Given the description of an element on the screen output the (x, y) to click on. 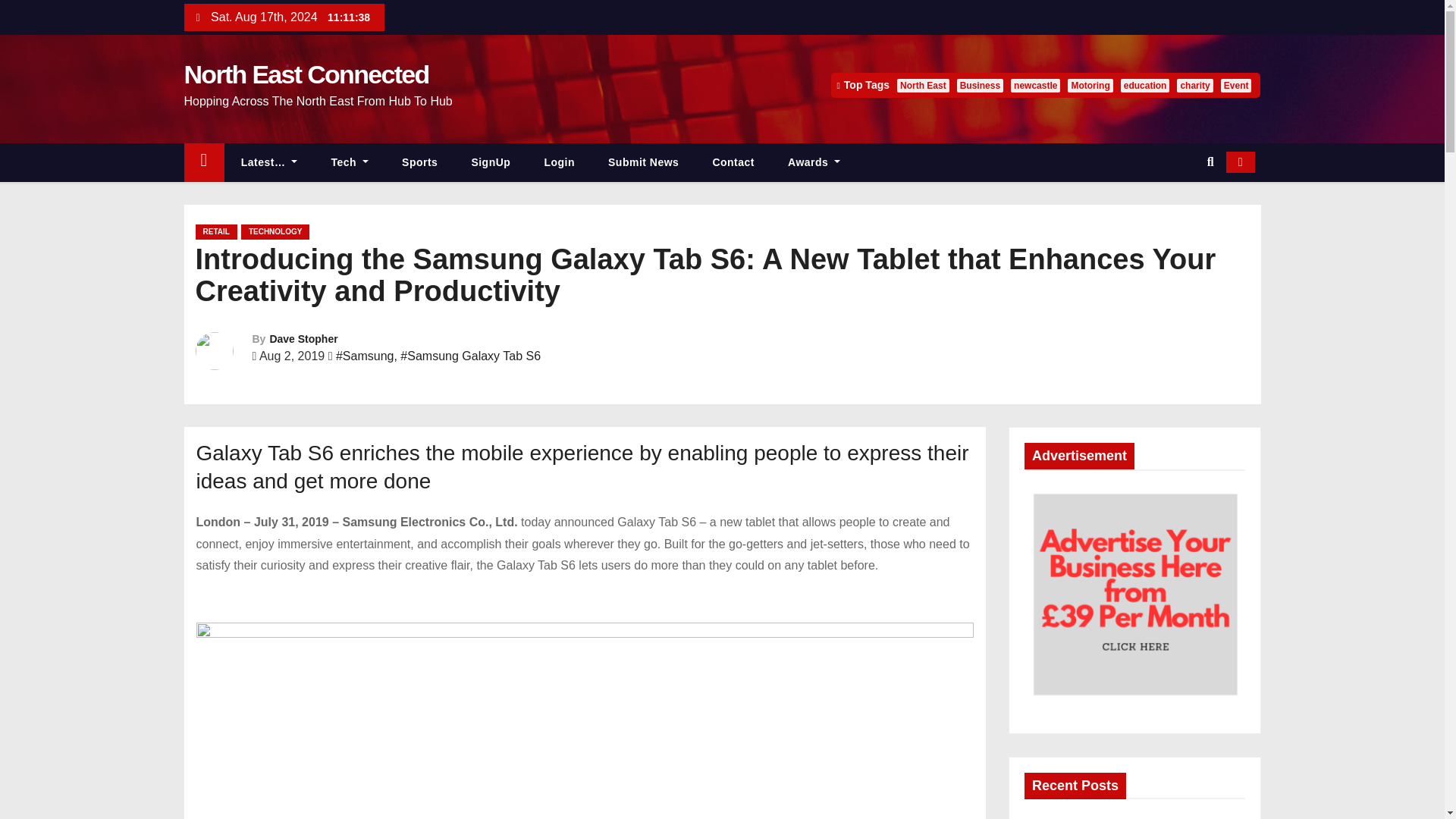
North East (922, 85)
education (1145, 85)
Contact (733, 162)
RETAIL (216, 231)
Home (203, 162)
SignUp (490, 162)
Login (559, 162)
Awards (814, 162)
Dave Stopher (303, 338)
Tech (349, 162)
